Given the description of an element on the screen output the (x, y) to click on. 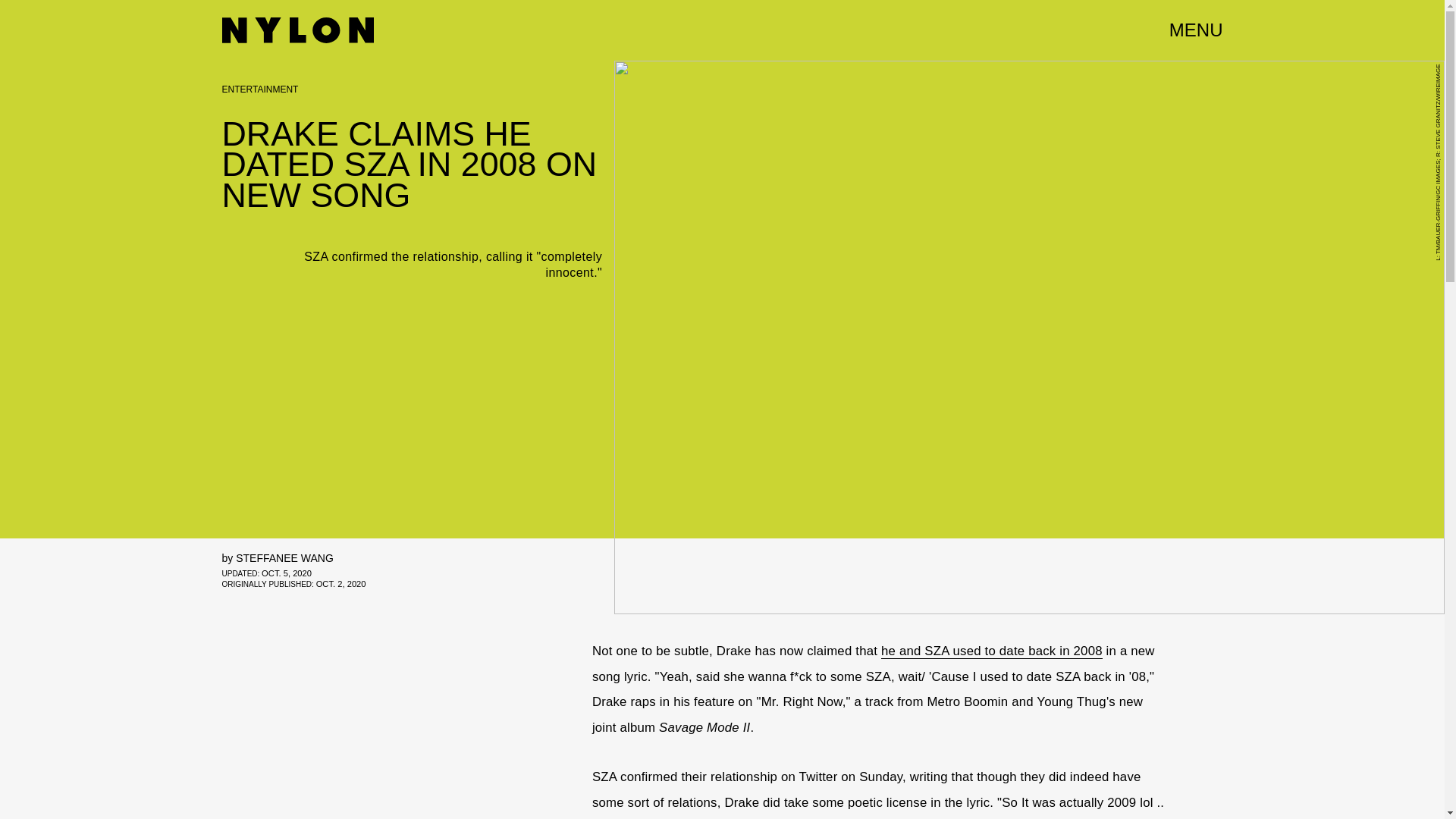
STEFFANEE WANG (284, 558)
he and SZA used to date back in 2008 (991, 651)
Nylon (296, 30)
